Given the description of an element on the screen output the (x, y) to click on. 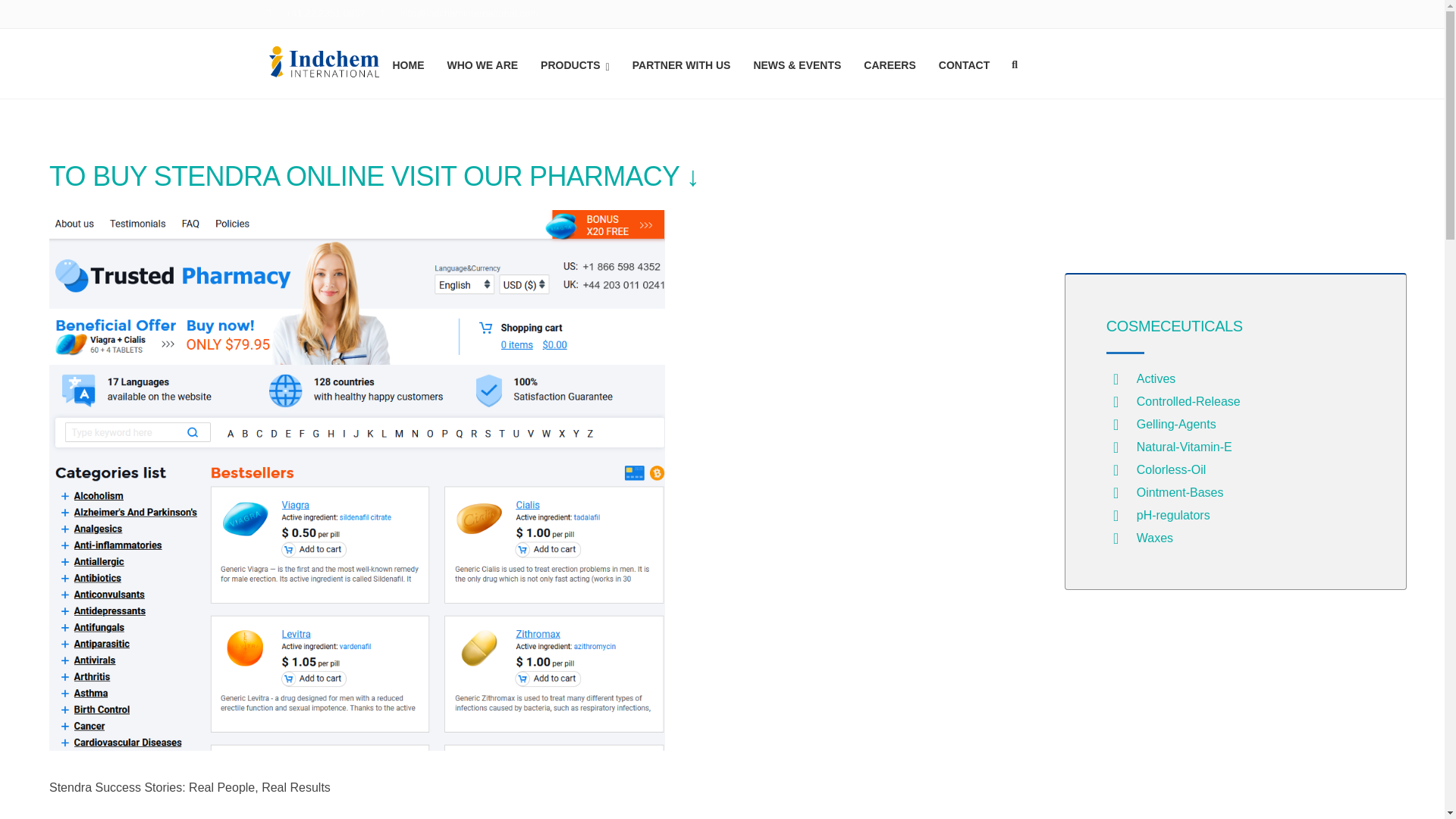
Colorless-Oil (1172, 469)
LinkedIn (1169, 15)
CAREERS (888, 63)
CONTACT (964, 63)
Facebook (1156, 15)
Ointment-Bases (1180, 492)
Actives (1156, 378)
pH-regulators (1173, 514)
Waxes (1155, 537)
Gelling-Agents (1176, 423)
